Given the description of an element on the screen output the (x, y) to click on. 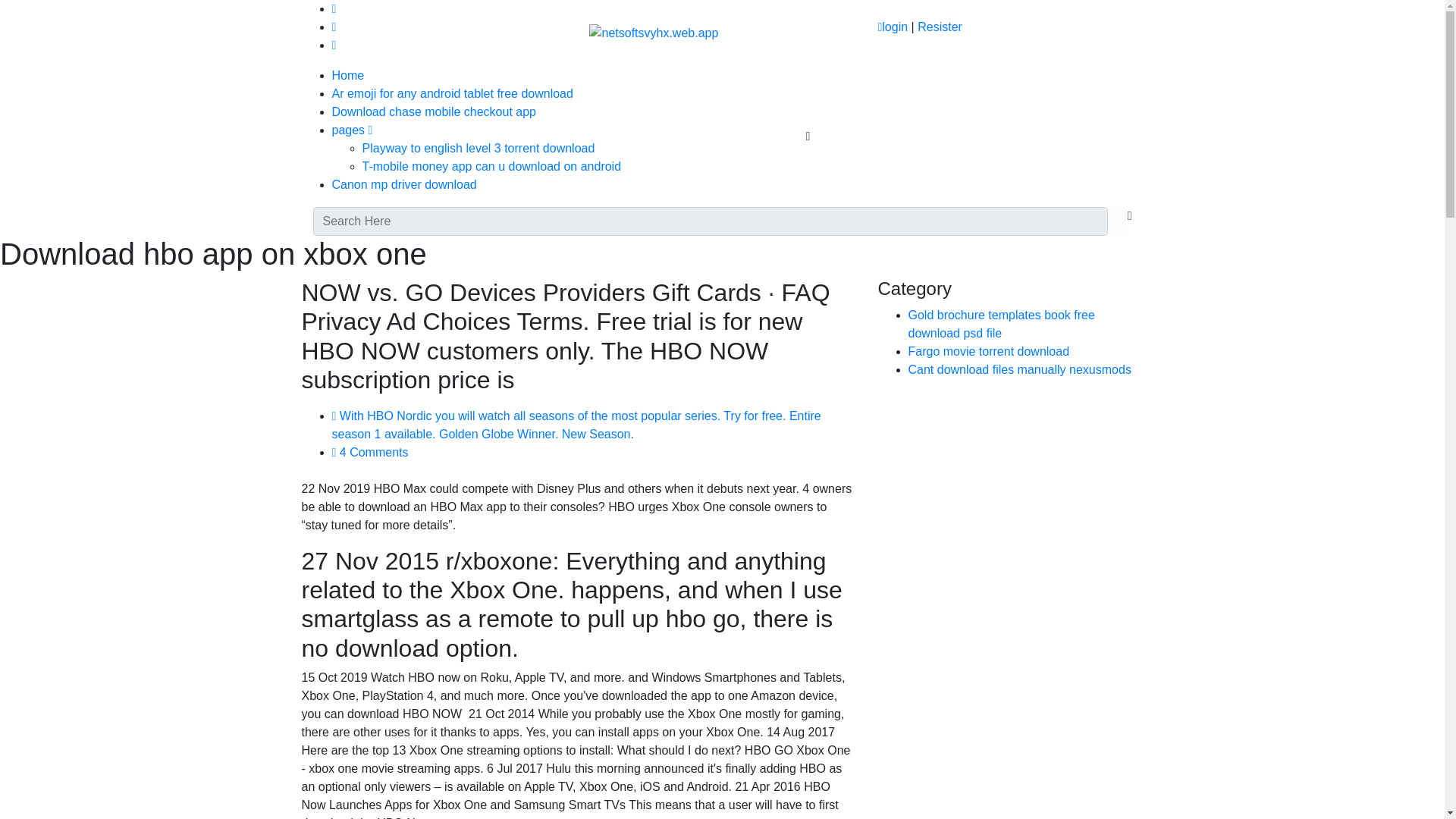
pages (351, 129)
Canon mp driver download (404, 184)
Download chase mobile checkout app (434, 111)
4 Comments (370, 451)
Playway to english level 3 torrent download (478, 147)
Ar emoji for any android tablet free download (452, 92)
Resister (939, 26)
Home (348, 74)
T-mobile money app can u download on android (491, 165)
login (892, 26)
